Given the description of an element on the screen output the (x, y) to click on. 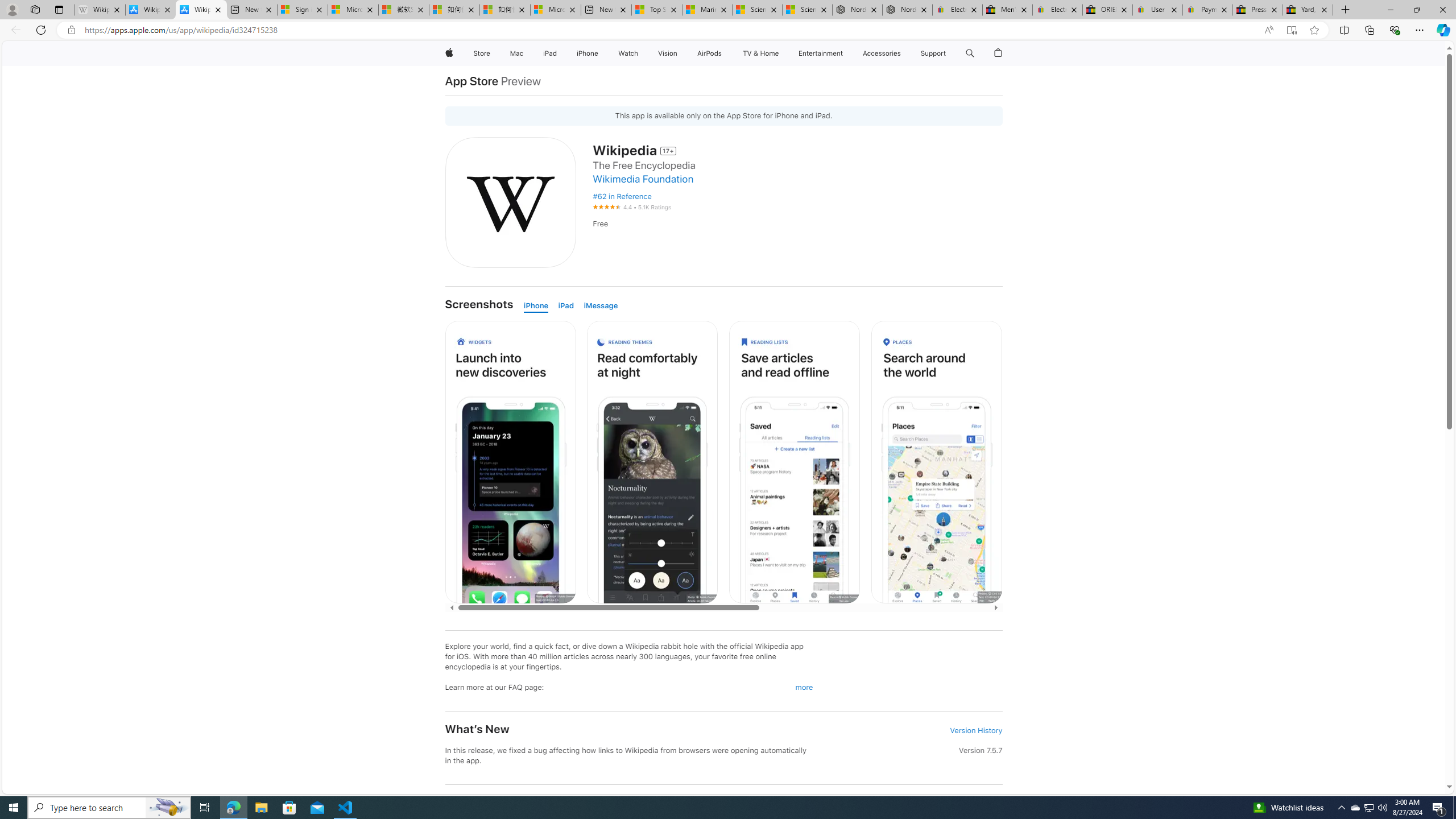
Press Room - eBay Inc. (1257, 9)
Support (932, 53)
Class: globalnav-item globalnav-search shift-0-1 (969, 53)
Support (932, 53)
Search apple.com (969, 53)
Support menu (948, 53)
Microsoft account | Account Checkup (555, 9)
Apple (448, 53)
TV & Home (759, 53)
AirPods (709, 53)
